Given the description of an element on the screen output the (x, y) to click on. 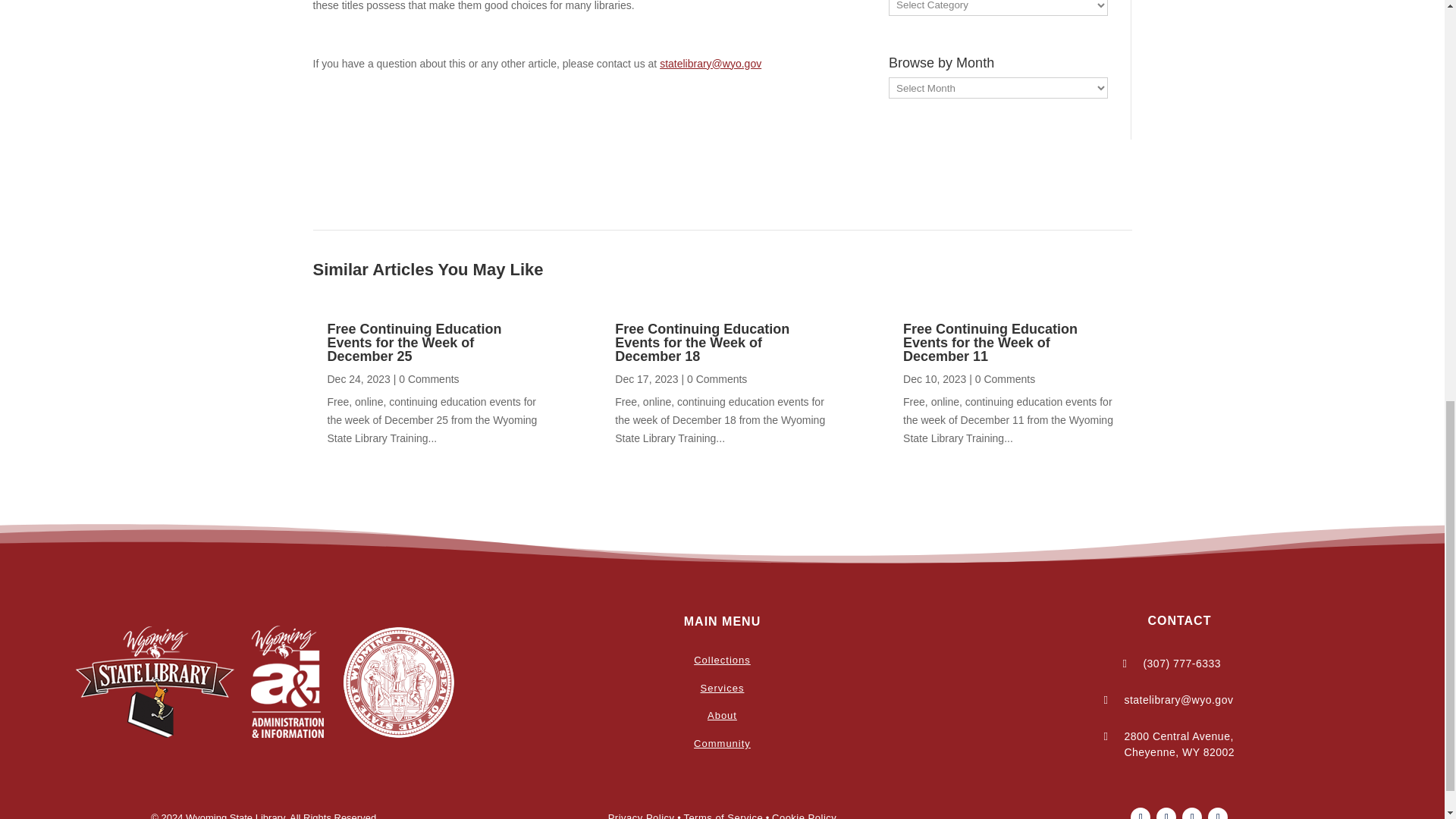
Follow on Facebook (1140, 813)
Follow on X (1166, 813)
footer-logos (264, 682)
Follow on LinkedIn (1217, 813)
Follow on Youtube (1192, 813)
